Given the description of an element on the screen output the (x, y) to click on. 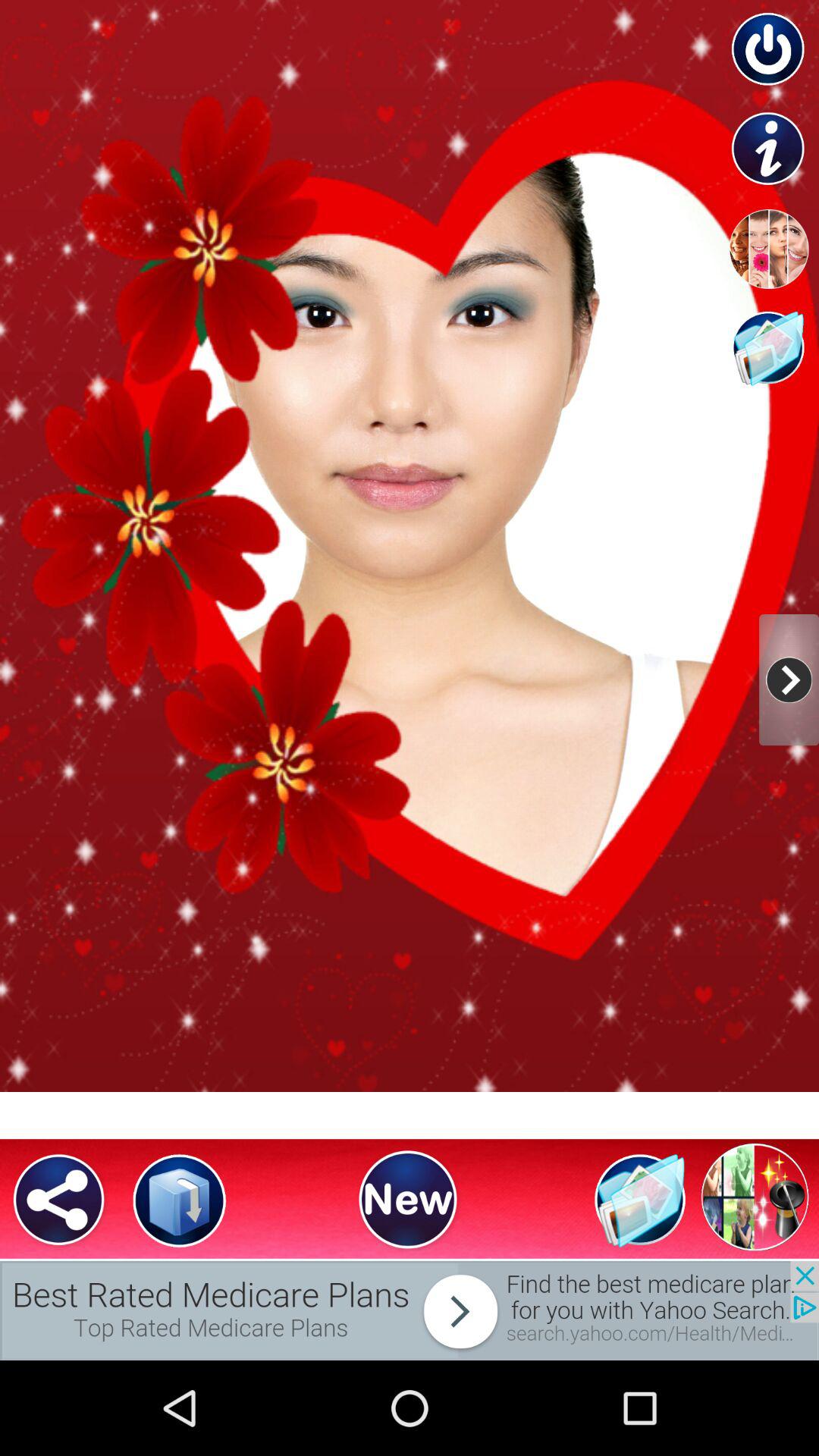
advertisement for medicare (409, 1310)
